Given the description of an element on the screen output the (x, y) to click on. 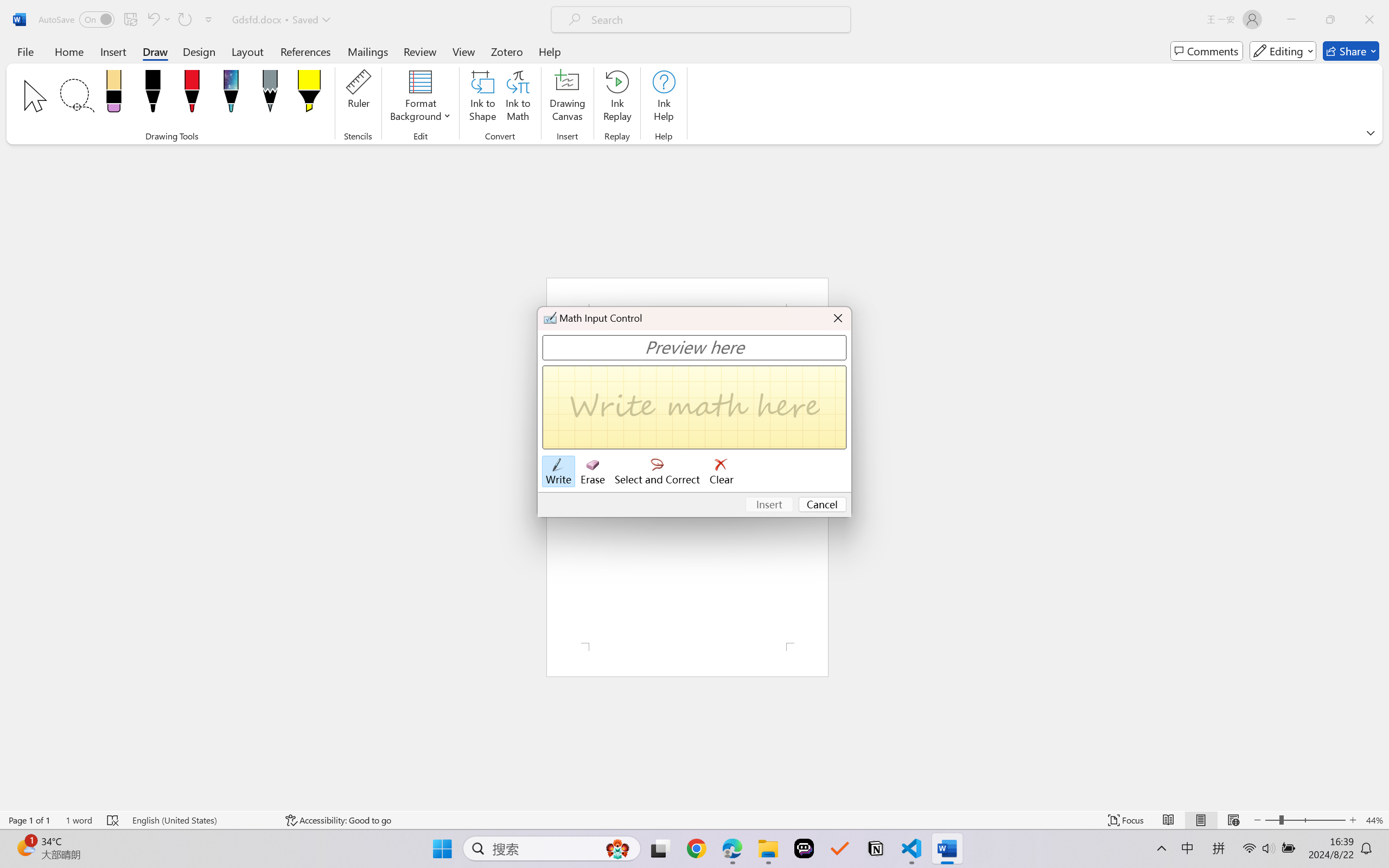
Erase (592, 471)
Select and Correct (657, 471)
Clear (721, 471)
Write (558, 471)
